Given the description of an element on the screen output the (x, y) to click on. 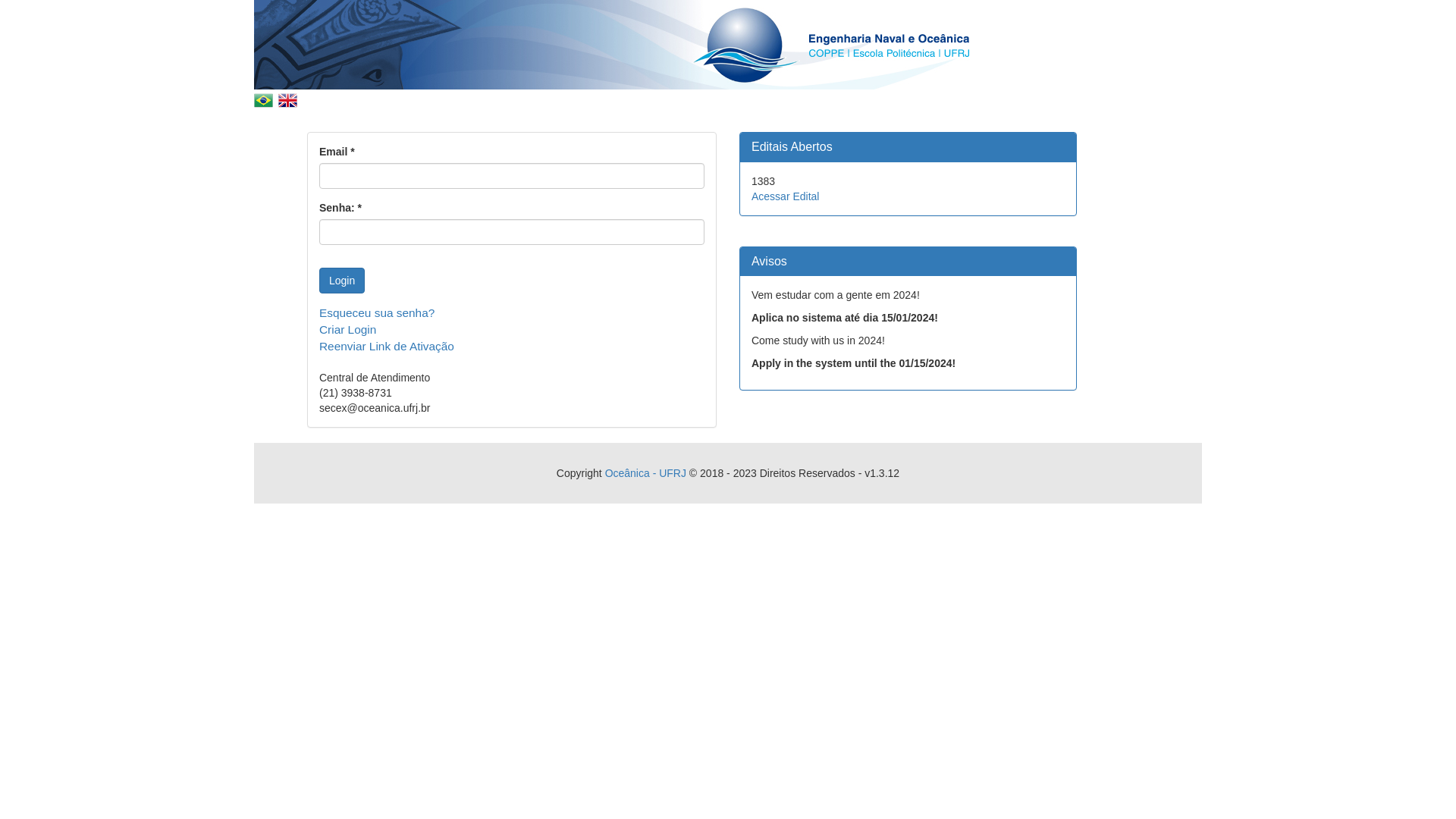
Esqueceu sua senha? Element type: text (376, 312)
Login Element type: text (341, 280)
Criar Login Element type: text (347, 329)
Acessar Edital Element type: text (785, 196)
